Given the description of an element on the screen output the (x, y) to click on. 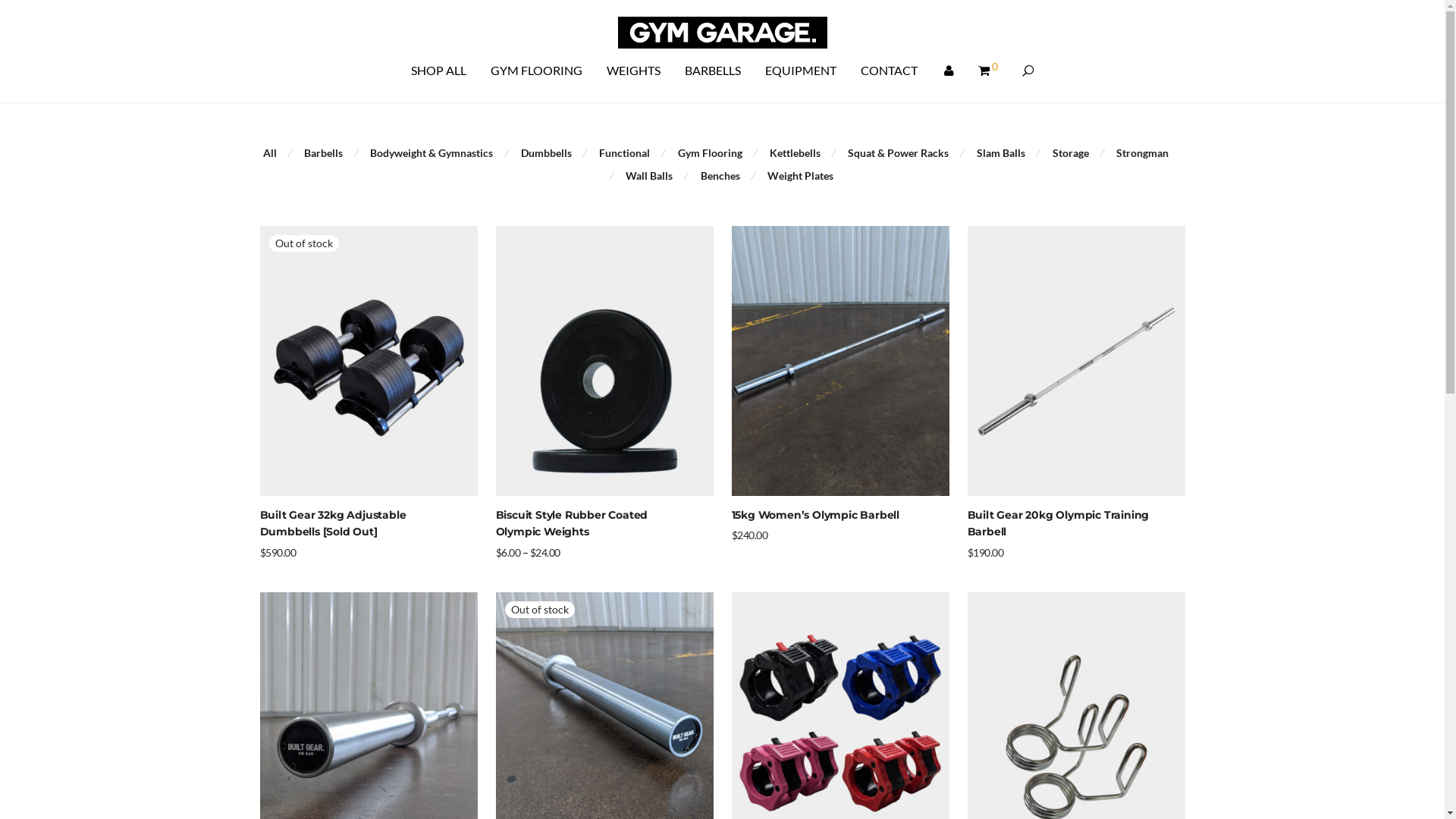
SHOP ALL Element type: text (438, 70)
Storage Element type: text (1070, 152)
Weight Plates Element type: text (800, 175)
Functional Element type: text (624, 152)
Slam Balls Element type: text (1000, 152)
Kettlebells Element type: text (794, 152)
BARBELLS Element type: text (711, 70)
Built Gear 20kg Olympic Training Barbell Element type: text (1058, 523)
EQUIPMENT Element type: text (799, 70)
Benches Element type: text (720, 175)
Strongman Element type: text (1142, 152)
Wall Balls Element type: text (648, 175)
All Element type: text (269, 152)
0 Element type: text (988, 70)
CONTACT Element type: text (887, 70)
Bodyweight & Gymnastics Element type: text (431, 152)
Gym Flooring Element type: text (709, 152)
GYM FLOORING Element type: text (535, 70)
Biscuit Style Rubber Coated Olympic Weights Element type: text (571, 523)
WEIGHTS Element type: text (633, 70)
Built Gear 32kg Adjustable Dumbbells [Sold Out] Element type: text (332, 523)
Dumbbells Element type: text (545, 152)
Barbells Element type: text (323, 152)
Squat & Power Racks Element type: text (897, 152)
